Given the description of an element on the screen output the (x, y) to click on. 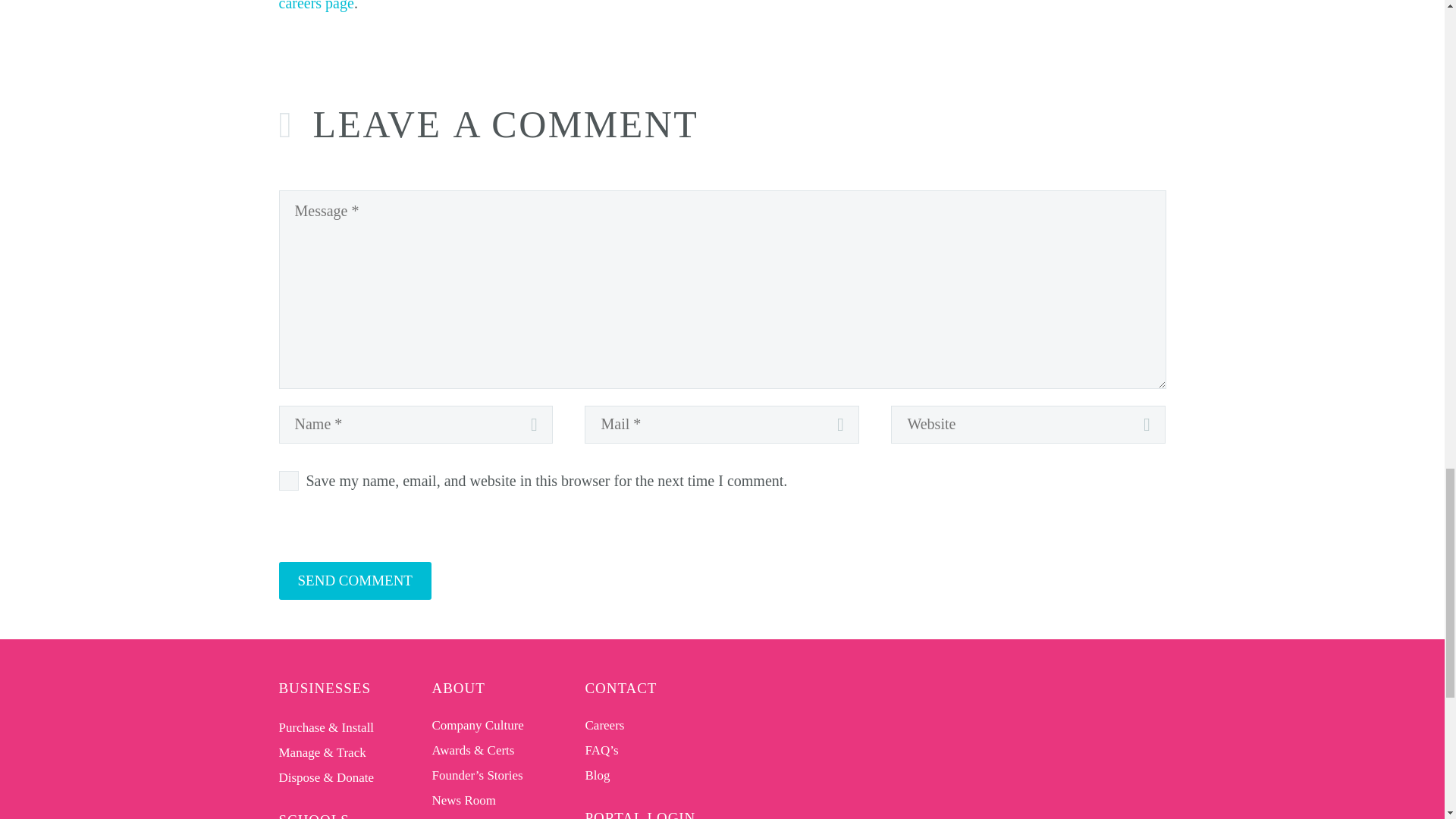
SCHOOLS (314, 815)
SEND COMMENT (354, 579)
PORTAL LOGIN (640, 814)
ABOUT (458, 687)
News Room (464, 800)
Company Culture (478, 724)
visit our careers page (710, 5)
CONTACT (621, 687)
BUSINESSES (325, 687)
Blog (597, 774)
Careers (604, 724)
